Given the description of an element on the screen output the (x, y) to click on. 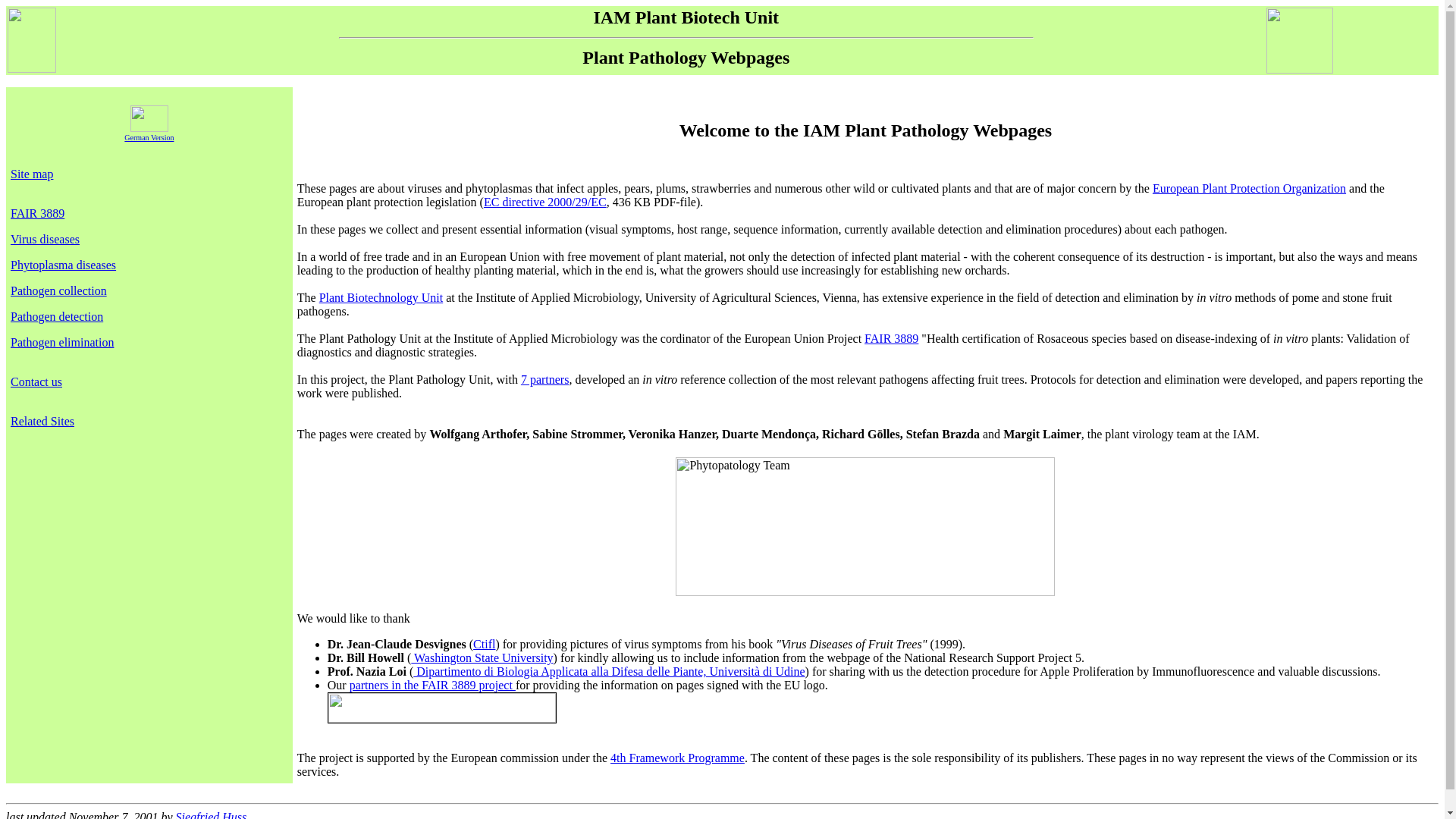
partners in the FAIR 3889 project (432, 684)
7 partners (545, 379)
Siegfried.Huss (211, 814)
4th Framework Programme (677, 757)
Washington State University (481, 657)
FAIR 3889 (37, 213)
Pathogen collection (58, 290)
Phytoplasma diseases (63, 264)
Pathogen detection (56, 316)
Pathogen elimination (61, 341)
Virus diseases (45, 238)
Contact us (36, 381)
German Version (148, 131)
European Plant Protection Organization (1249, 187)
Site map (31, 173)
